Given the description of an element on the screen output the (x, y) to click on. 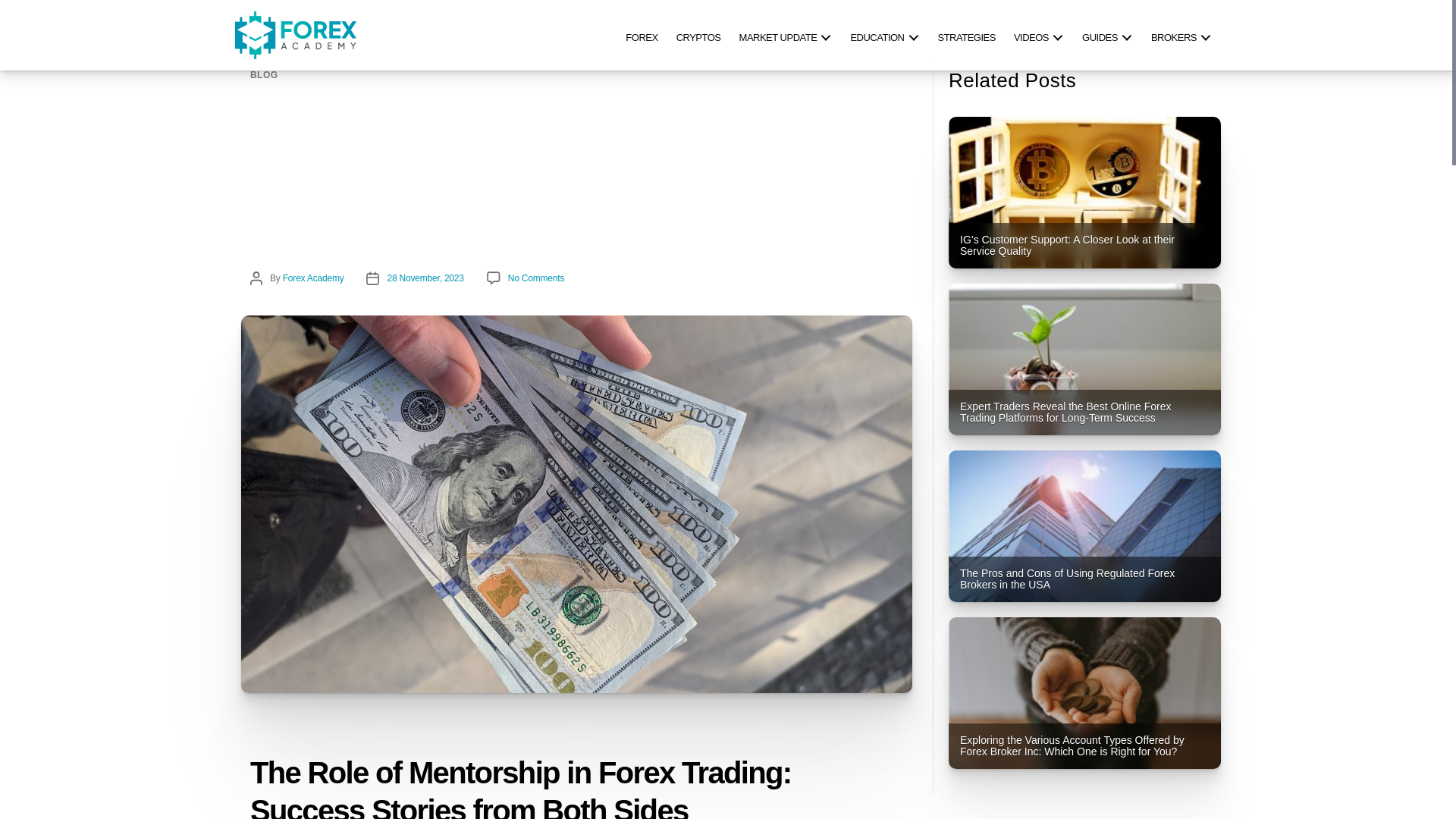
VIDEOS (1038, 35)
BROKERS (1181, 35)
MARKET UPDATE (785, 35)
STRATEGIES (966, 35)
CRYPTOS (698, 35)
GUIDES (1107, 35)
EDUCATION (884, 35)
